Given the description of an element on the screen output the (x, y) to click on. 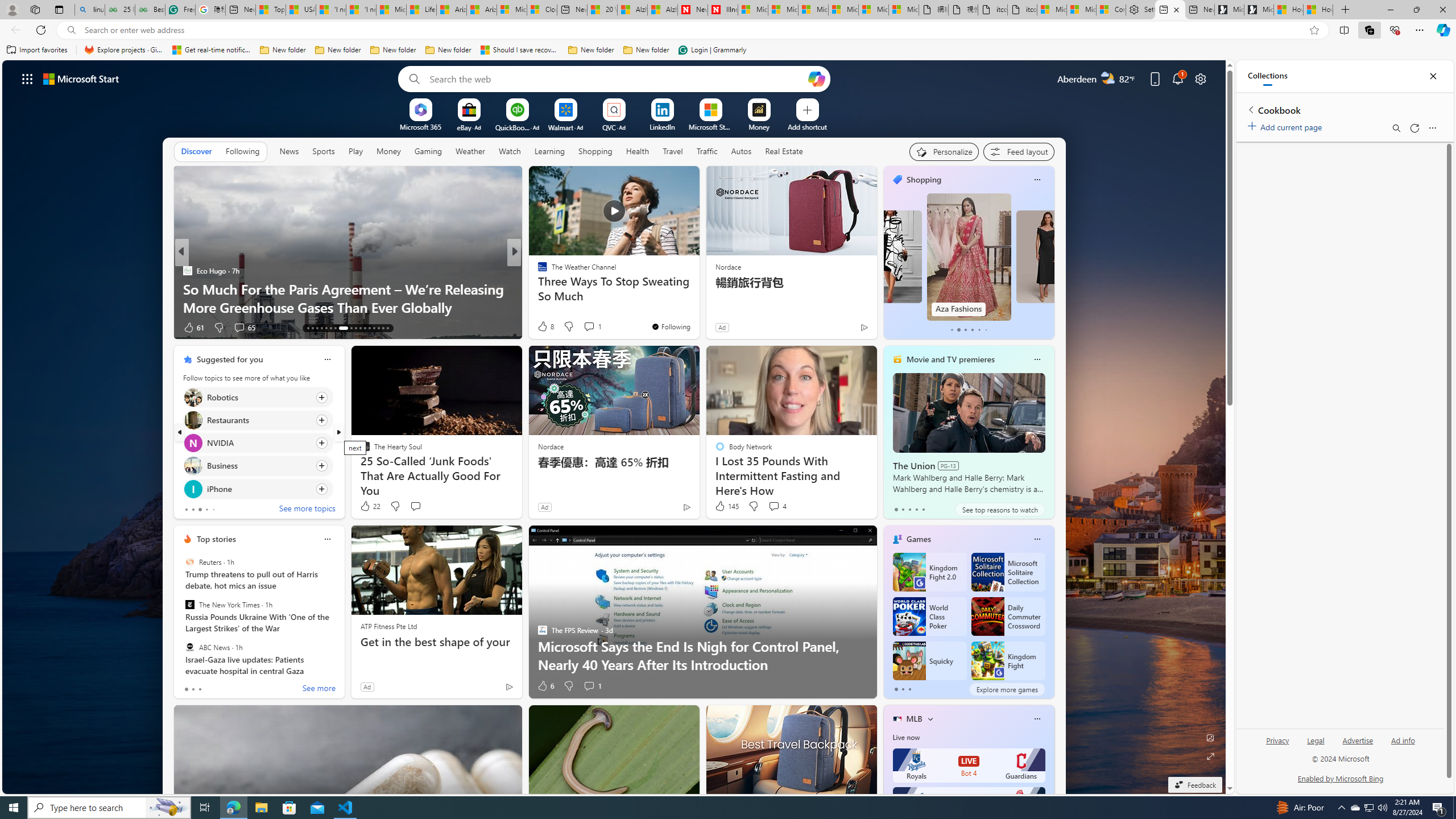
Robotics (192, 397)
20 Ways to Boost Your Protein Intake at Every Meal (601, 9)
Class: icon-img (1037, 718)
244 Like (545, 327)
View comments 65 Comment (244, 327)
